Given the description of an element on the screen output the (x, y) to click on. 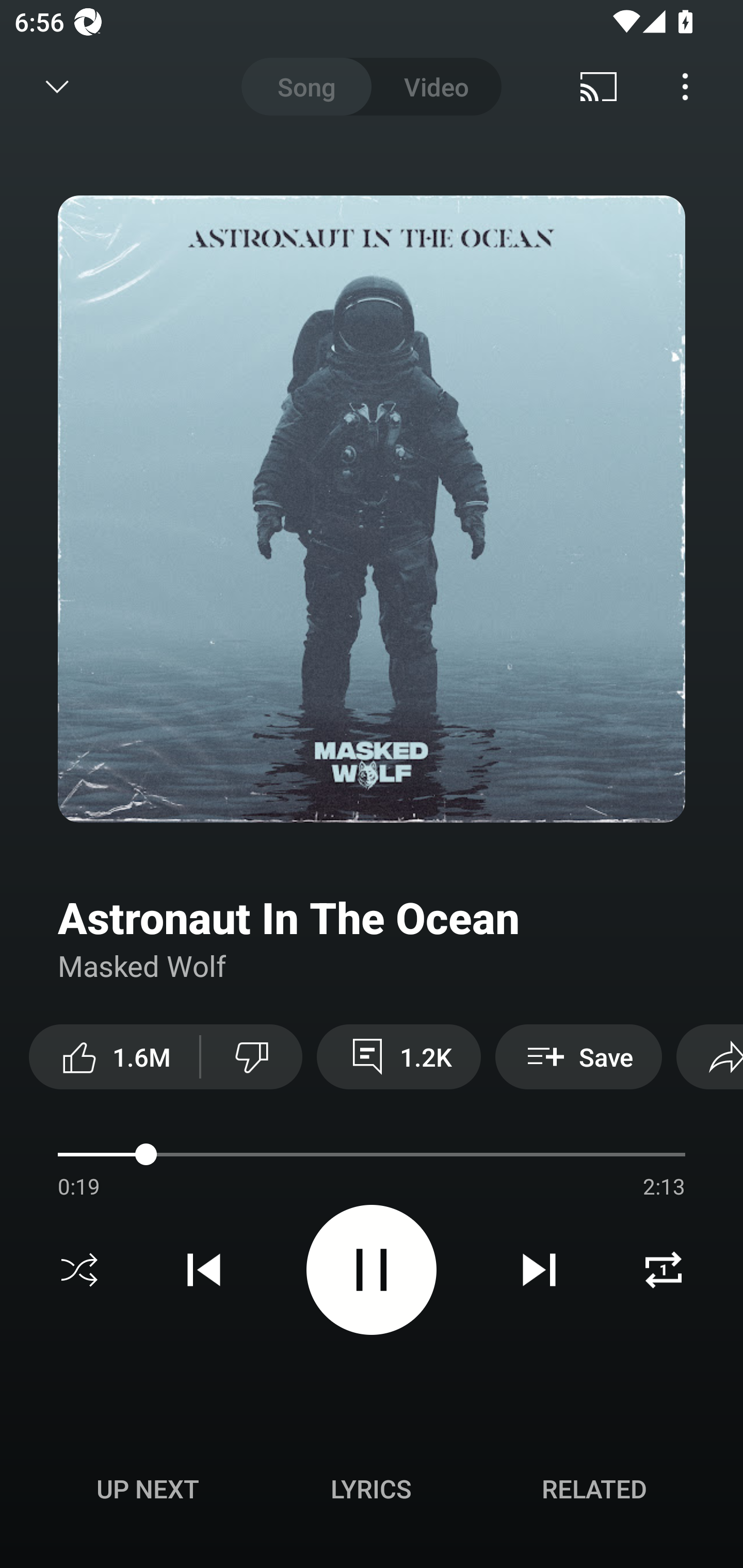
Minimize (57, 86)
Cast. Disconnected (598, 86)
Menu (684, 86)
Dislike (251, 1056)
1.2K View 1,254 comments (398, 1056)
Save Save to playlist (578, 1056)
Share (709, 1056)
Pause video (371, 1269)
Shuffle off (79, 1269)
Previous track (203, 1269)
Next track (538, 1269)
Repeat one (663, 1269)
Up next UP NEXT Lyrics LYRICS Related RELATED (371, 1491)
Lyrics LYRICS (370, 1488)
Related RELATED (594, 1488)
